Given the description of an element on the screen output the (x, y) to click on. 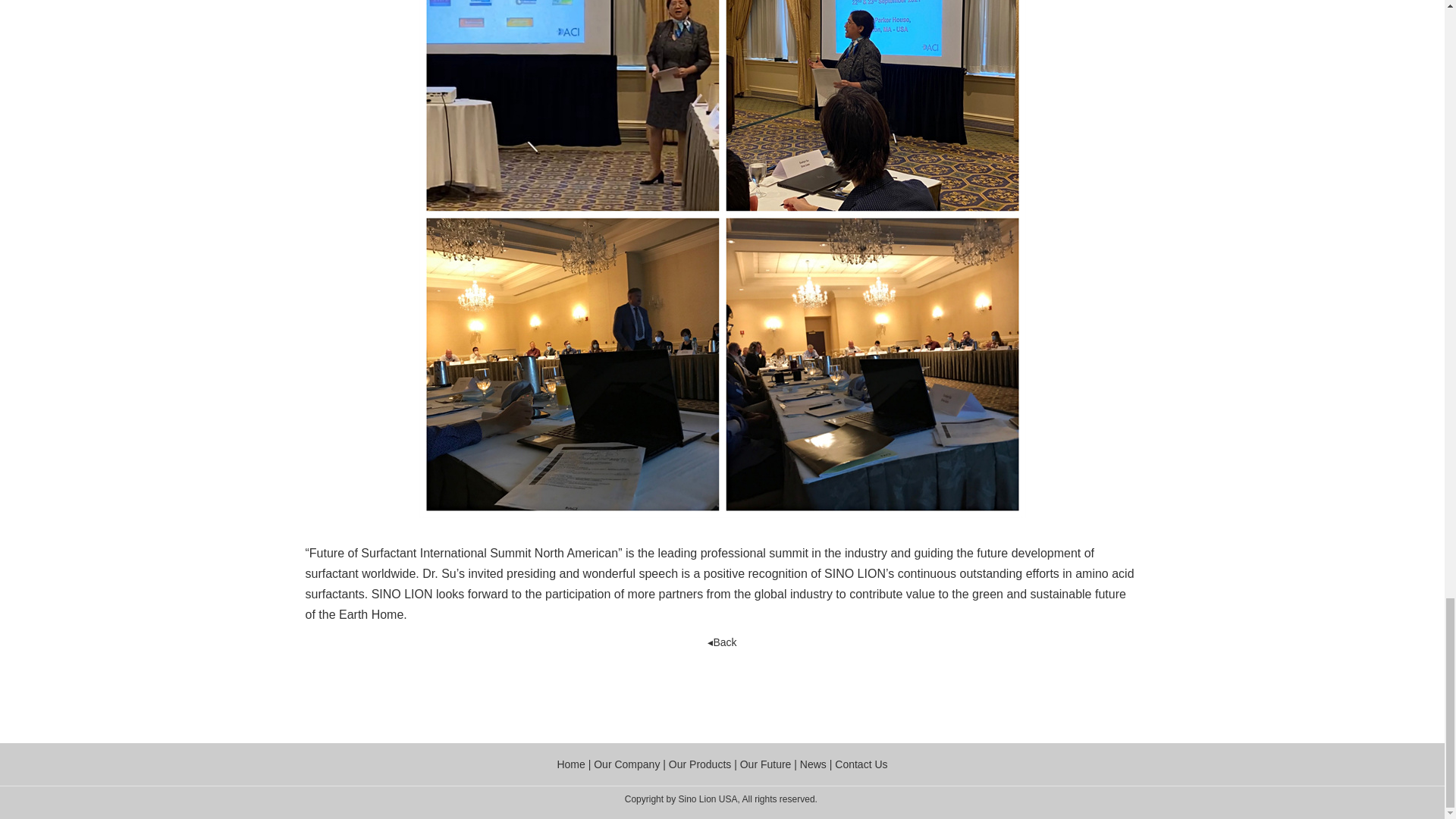
Our Products (699, 764)
Our Company (626, 764)
Contact Us (860, 764)
Home (570, 764)
Our Future (765, 764)
News (814, 764)
